Given the description of an element on the screen output the (x, y) to click on. 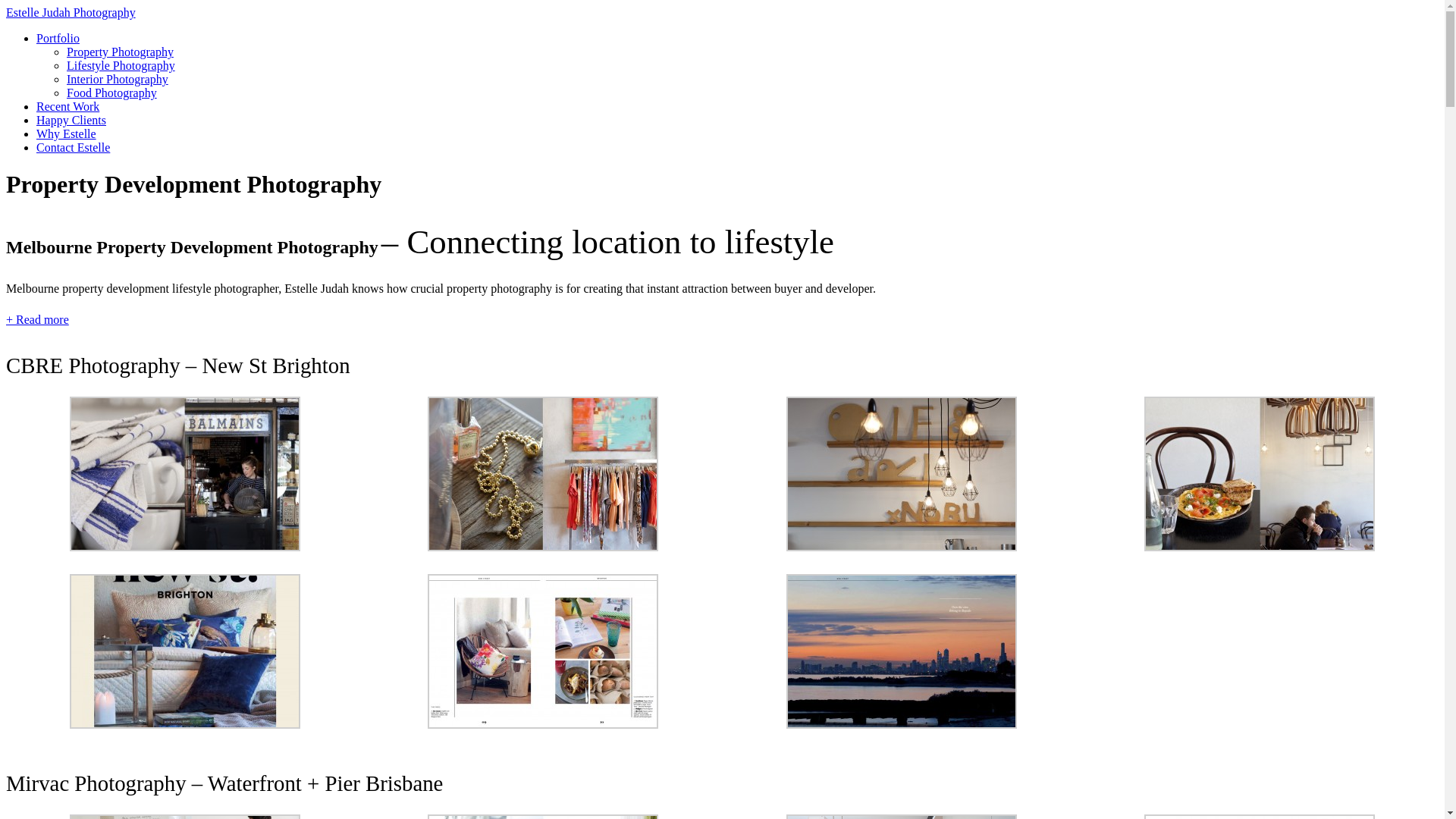
Happy Clients Element type: text (71, 119)
Recent Work Element type: text (67, 106)
+ Read more Element type: text (37, 319)
Why Estelle Element type: text (66, 133)
Estelle Judah Photography Element type: text (70, 12)
Interior Photography Element type: text (117, 78)
Food Photography Element type: text (111, 92)
Property Photography Element type: text (119, 51)
Contact Estelle Element type: text (72, 147)
Lifestyle Photography Element type: text (120, 65)
Portfolio Element type: text (57, 37)
